Given the description of an element on the screen output the (x, y) to click on. 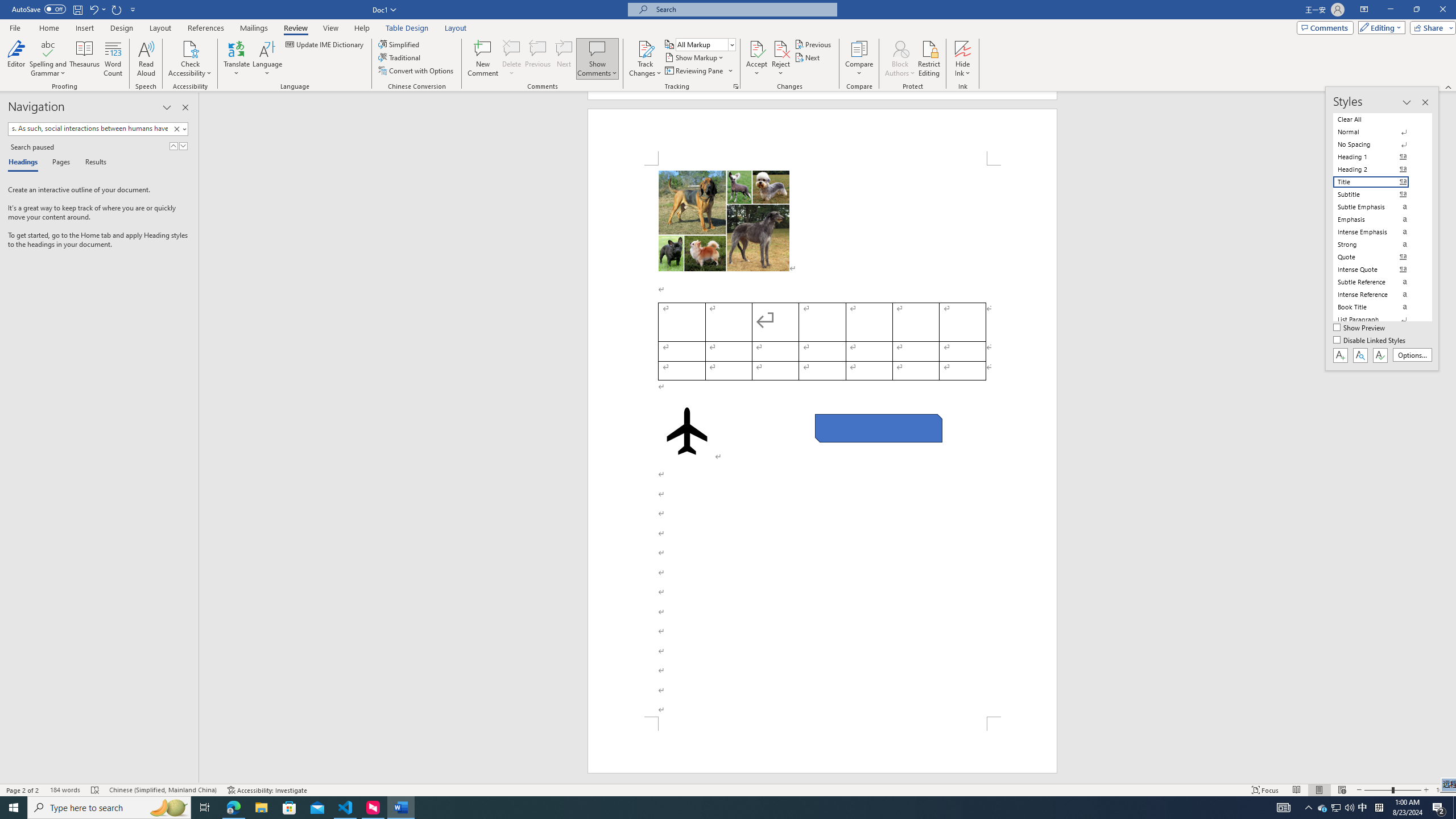
Spelling and Grammar (48, 48)
Disable Linked Styles (1370, 340)
Reject and Move to Next (780, 48)
Convert with Options... (417, 69)
Simplified (400, 44)
Update IME Dictionary... (324, 44)
Word Count 184 words (64, 790)
Page Number Page 2 of 2 (22, 790)
